Given the description of an element on the screen output the (x, y) to click on. 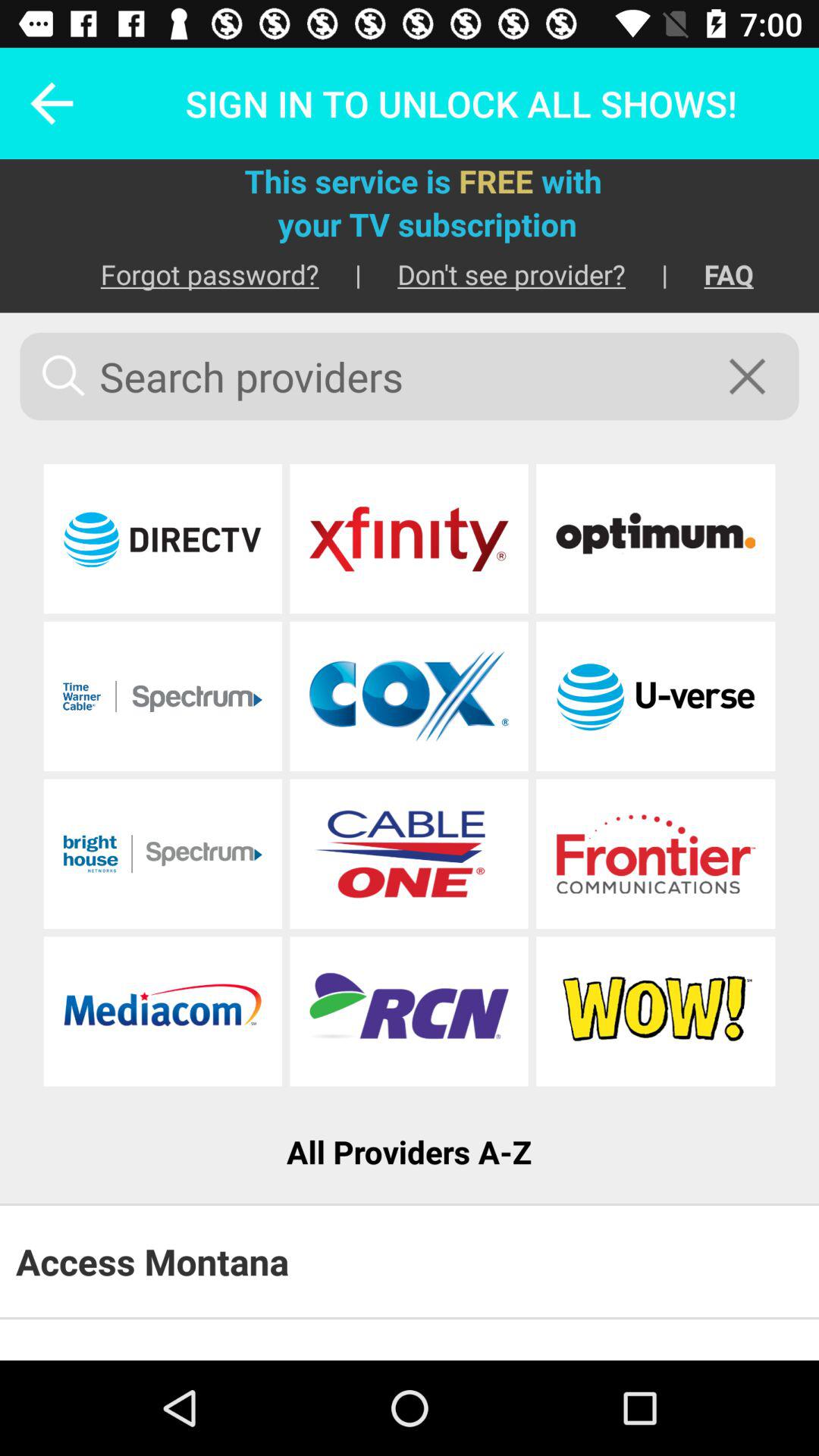
select cable one (408, 853)
